Given the description of an element on the screen output the (x, y) to click on. 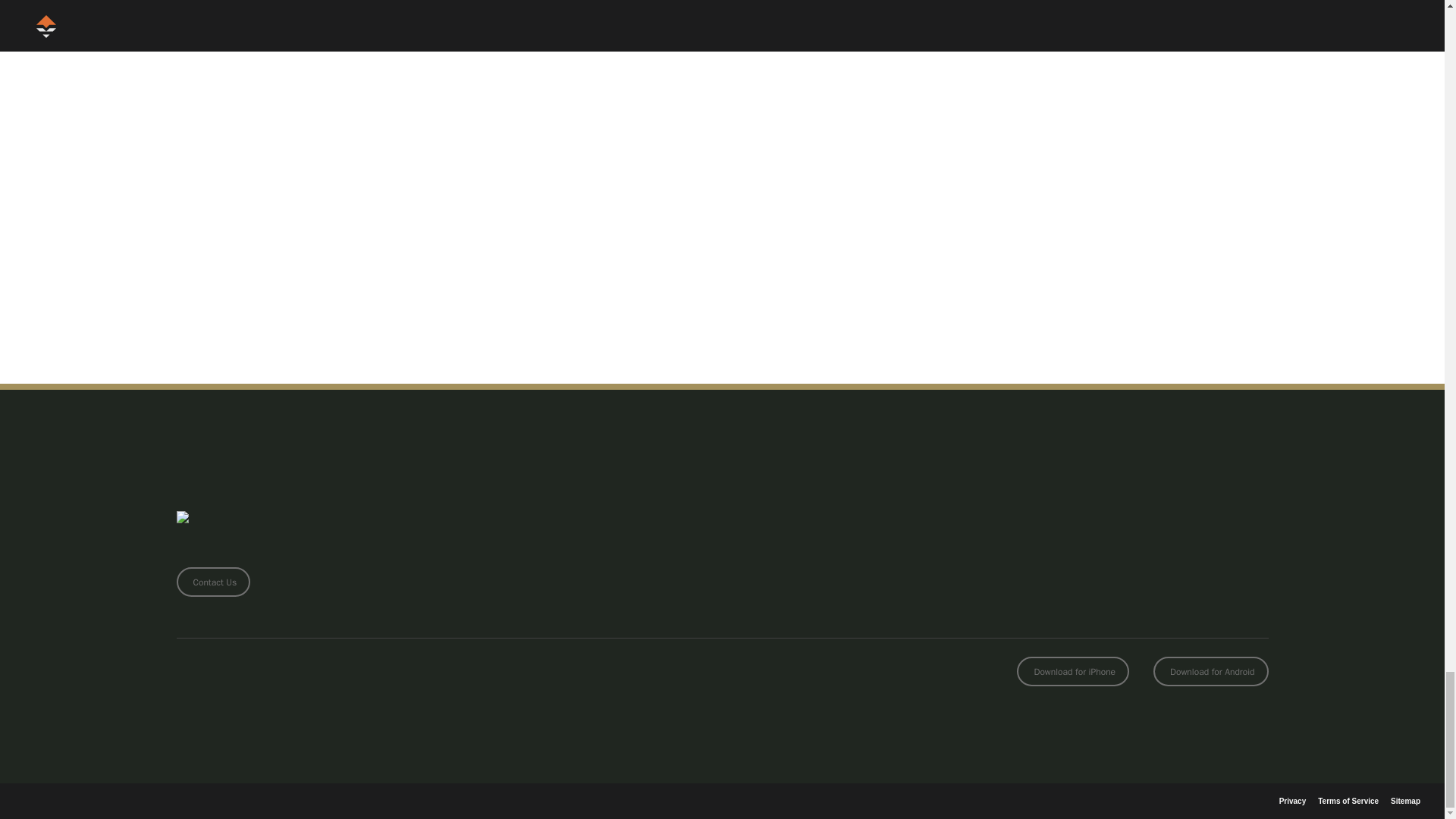
Download for Android (1210, 671)
Contact Us (213, 582)
Privacy (1292, 800)
Download for iPhone (1072, 671)
